Given the description of an element on the screen output the (x, y) to click on. 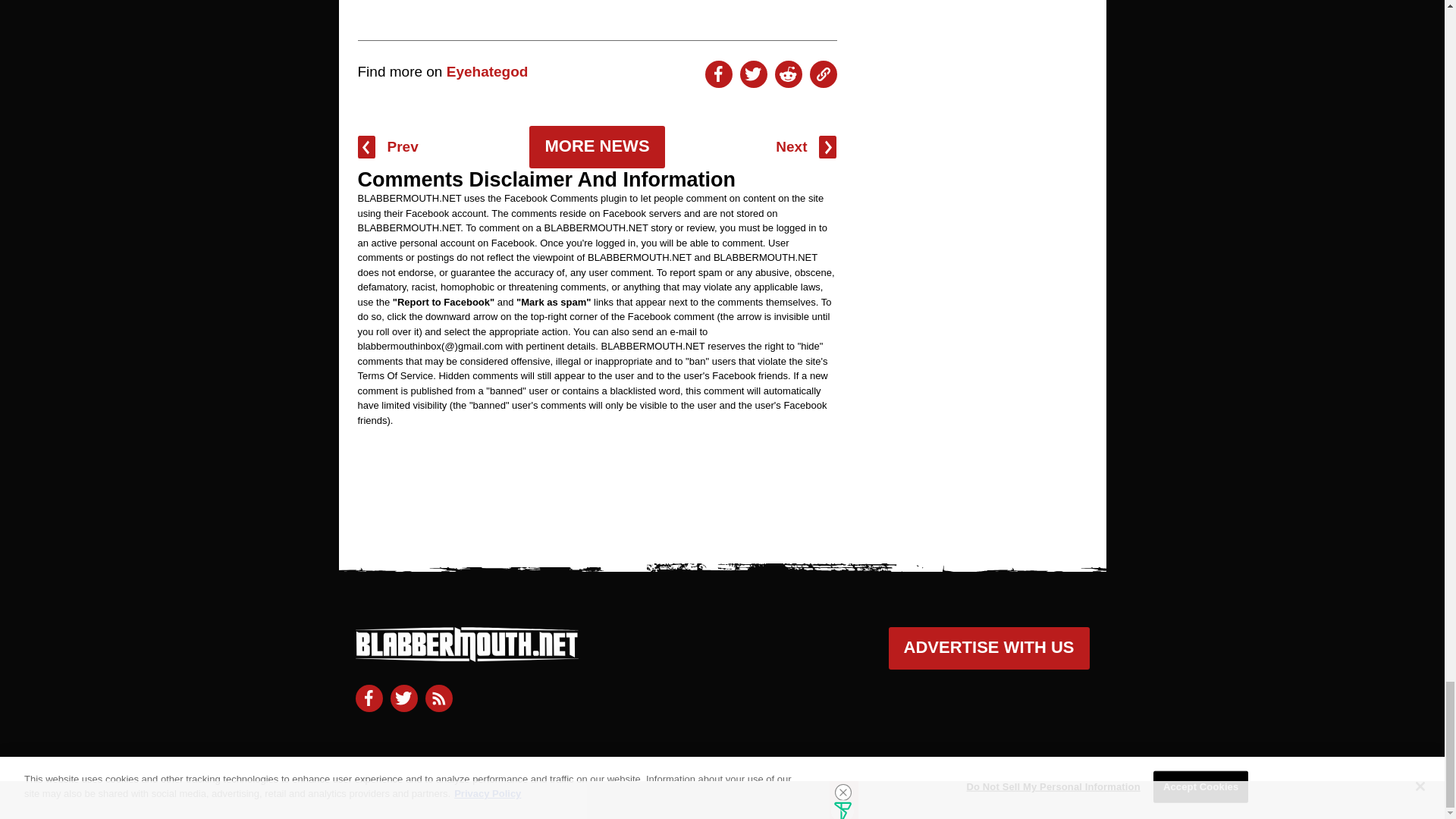
Share On Reddit (788, 73)
Prev (388, 146)
Share On Twitter (753, 73)
Share On Facebook (718, 73)
MORE NEWS (596, 147)
blabbermouth (466, 655)
Next (805, 146)
Eyehategod (487, 71)
Copy To Clipboard (823, 73)
